Given the description of an element on the screen output the (x, y) to click on. 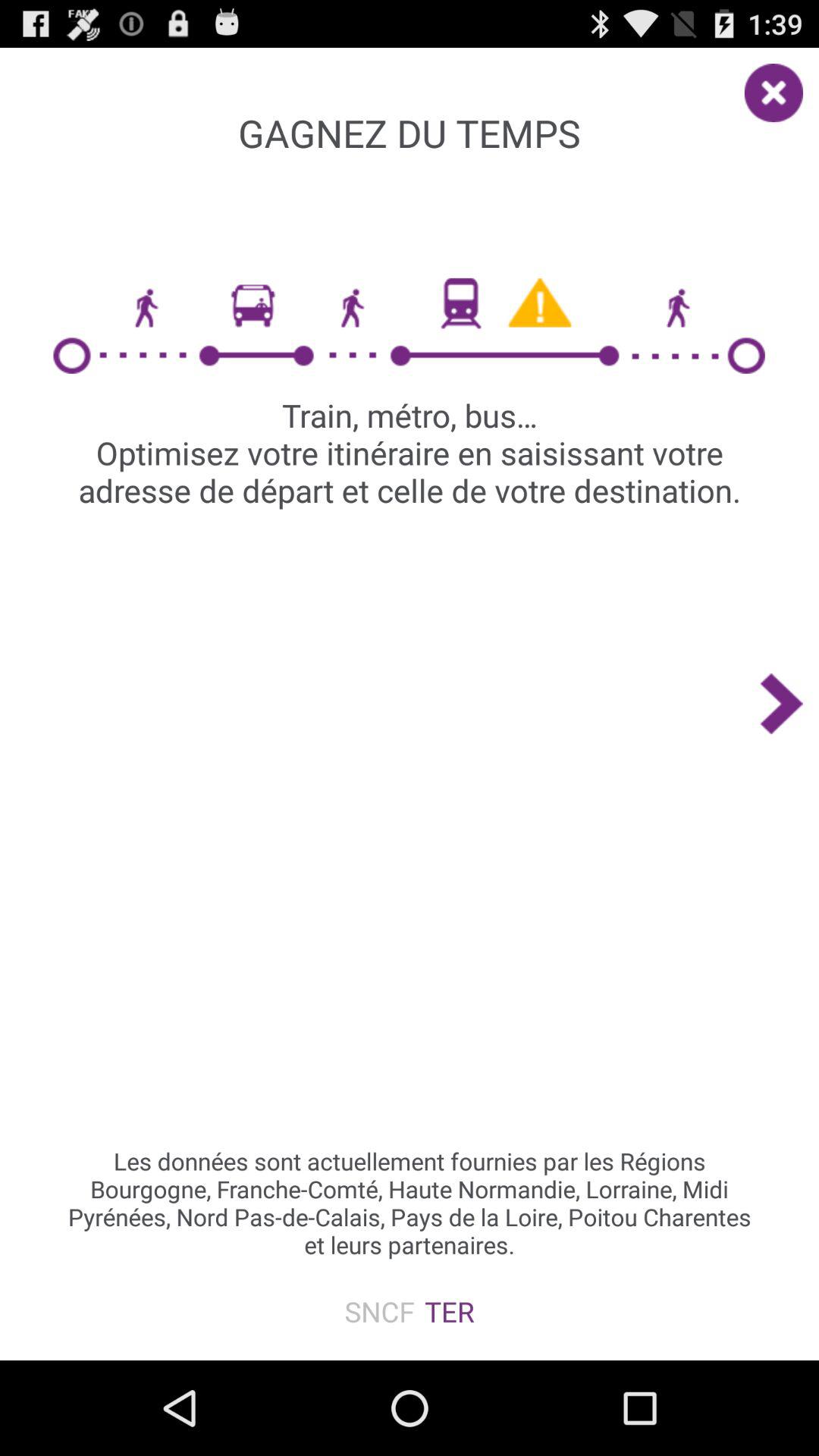
turn off the item to the right of the gagnez du temps app (781, 84)
